Given the description of an element on the screen output the (x, y) to click on. 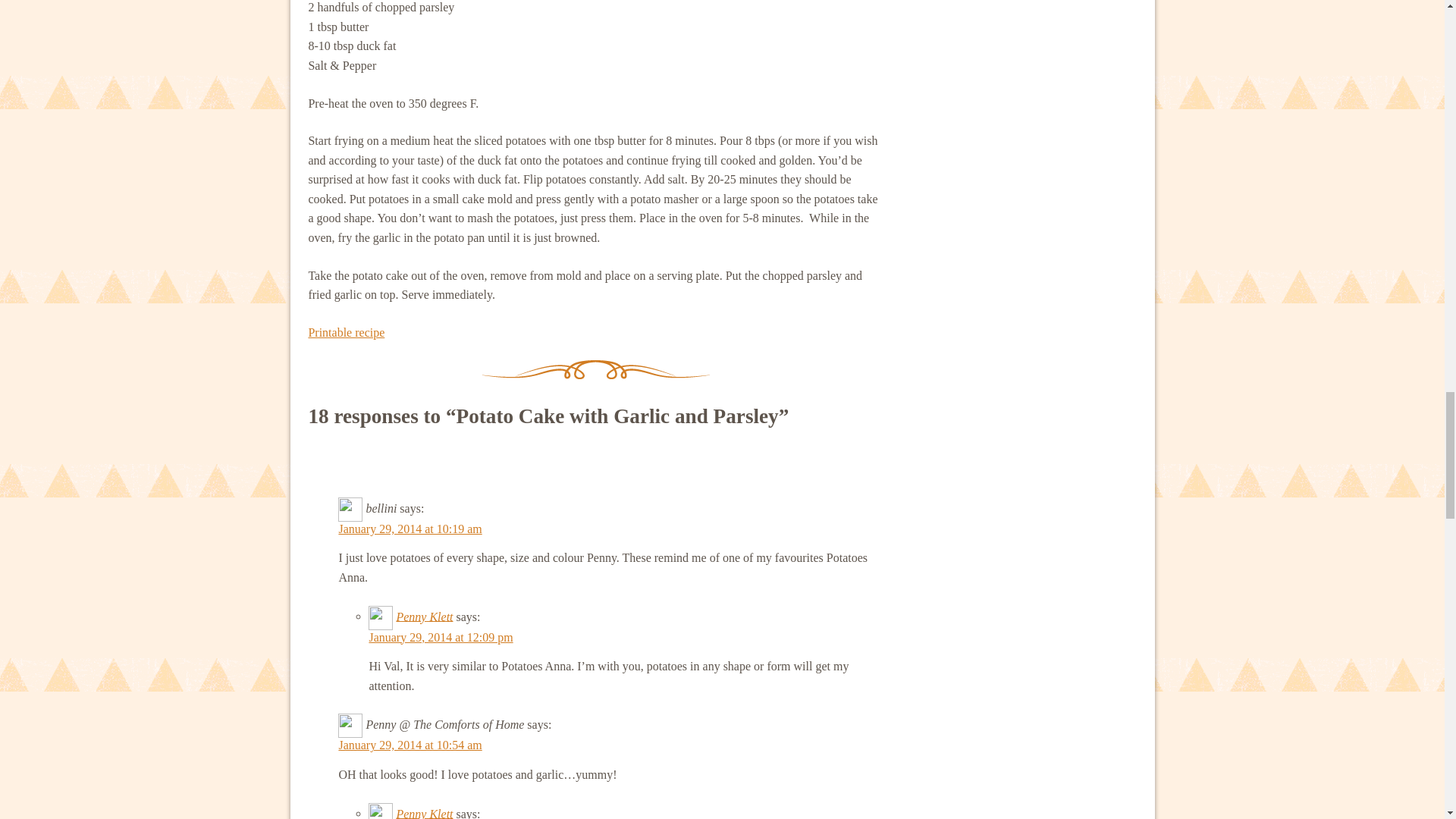
January 29, 2014 at 12:09 pm (440, 636)
Penny Klett (424, 615)
Penny Klett (424, 812)
January 29, 2014 at 10:19 am (409, 528)
Printable recipe (345, 332)
January 29, 2014 at 10:54 am (409, 744)
